Given the description of an element on the screen output the (x, y) to click on. 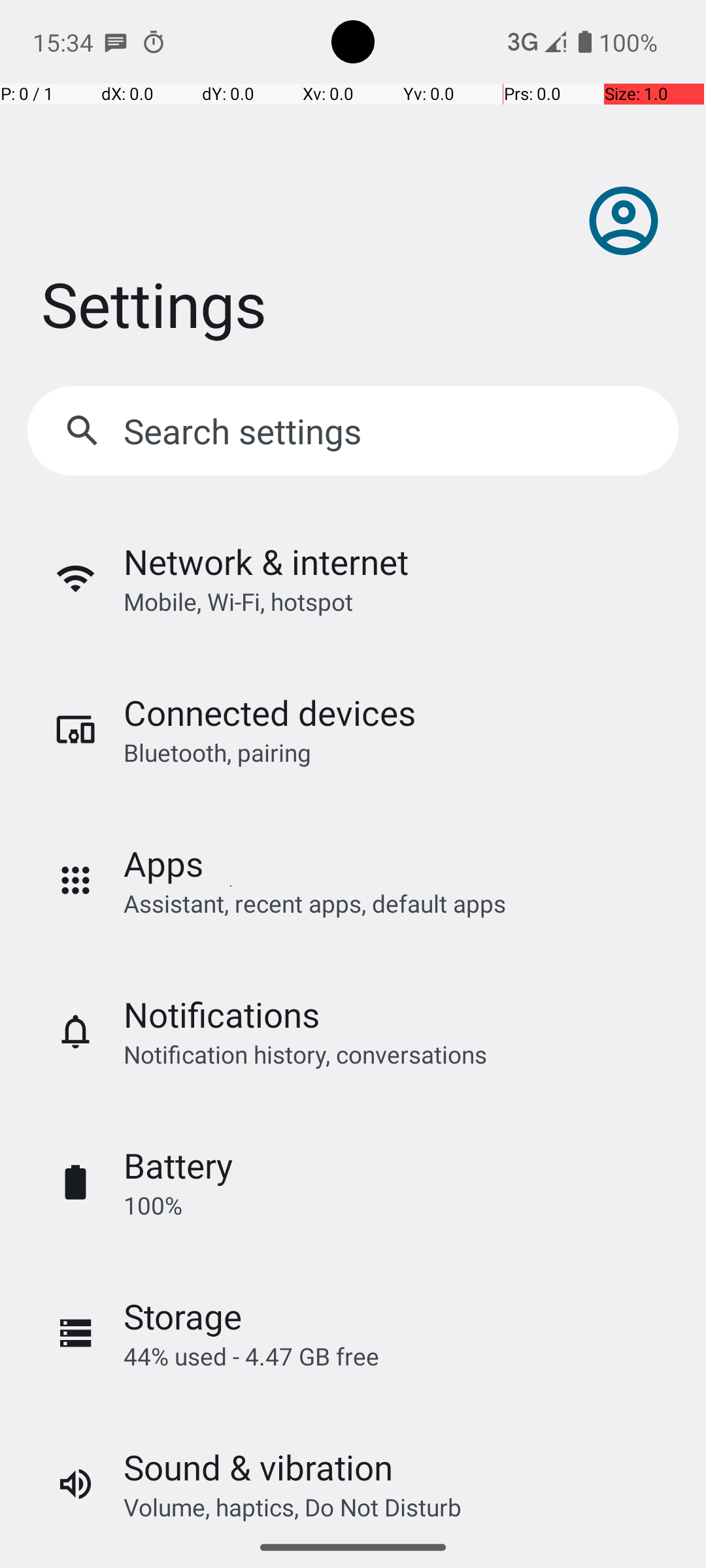
44% used - 4.47 GB free Element type: android.widget.TextView (251, 1355)
